Given the description of an element on the screen output the (x, y) to click on. 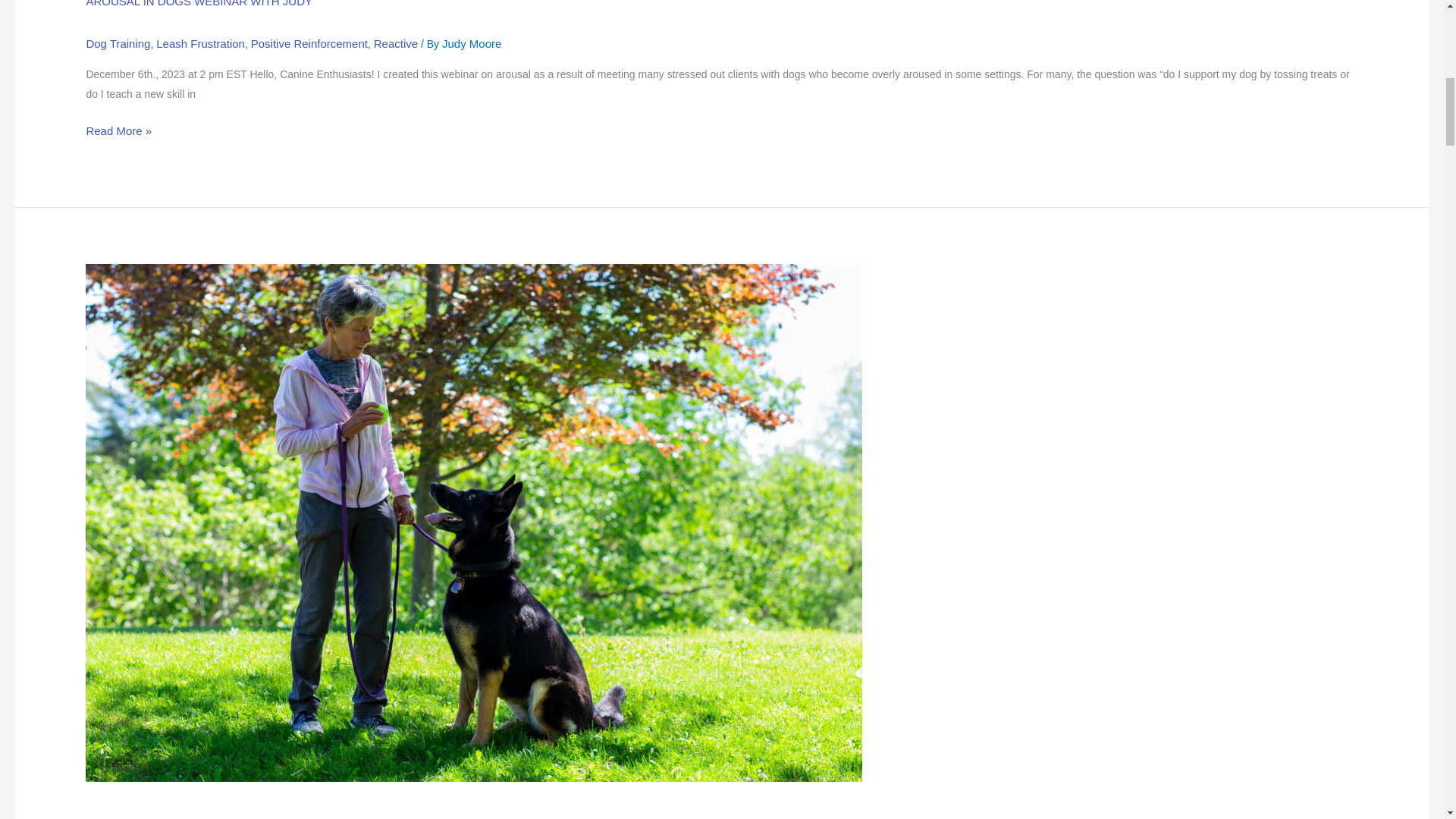
View all posts by Judy Moore (471, 42)
